Given the description of an element on the screen output the (x, y) to click on. 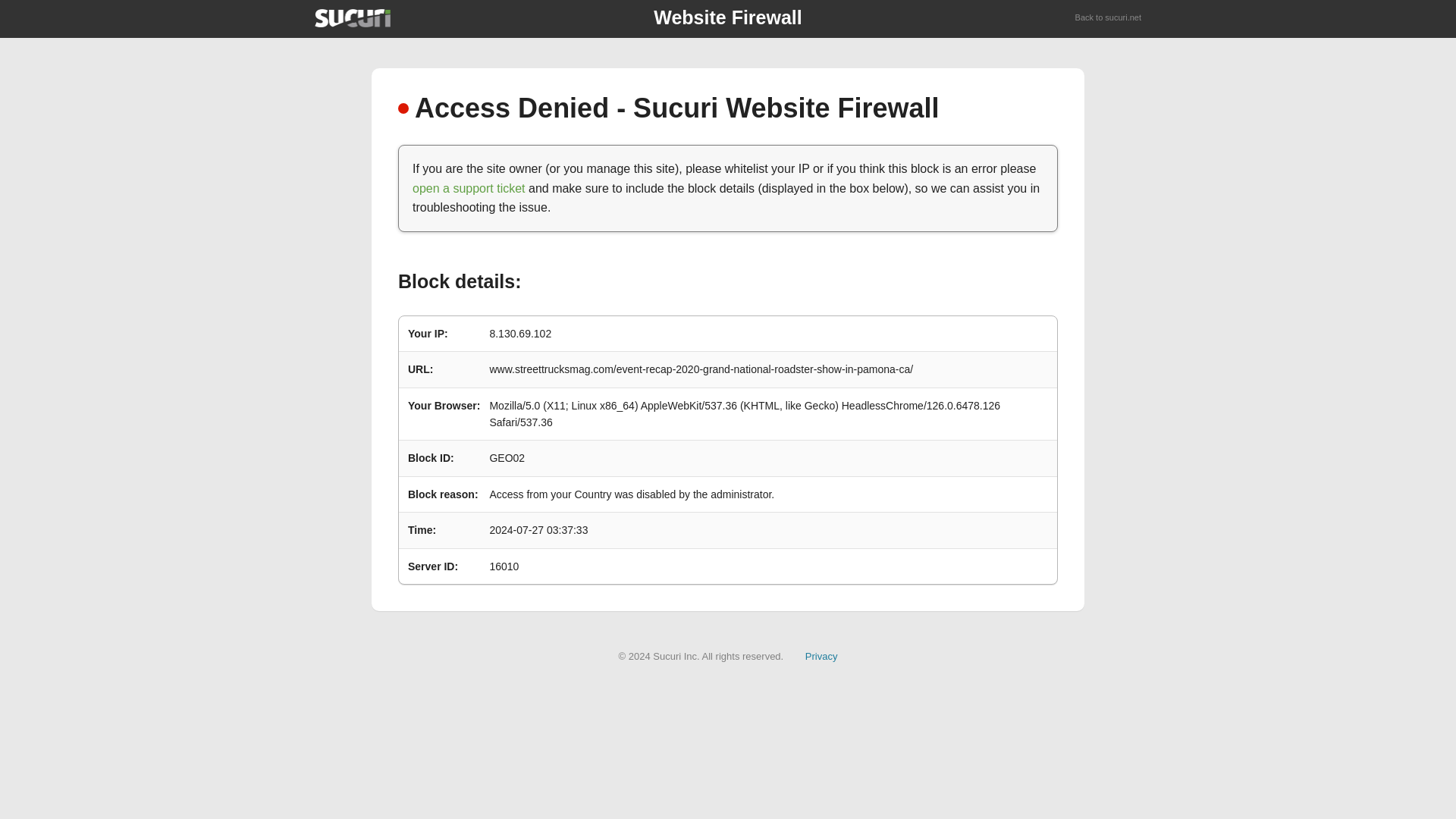
Back to sucuri.net (1108, 18)
Privacy (821, 655)
open a support ticket (468, 187)
